Given the description of an element on the screen output the (x, y) to click on. 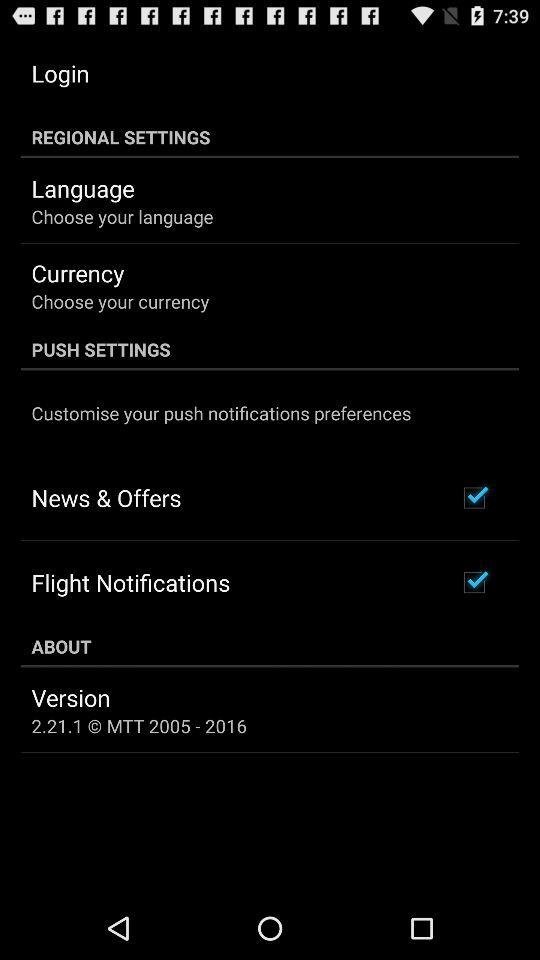
jump to the flight notifications app (130, 582)
